Given the description of an element on the screen output the (x, y) to click on. 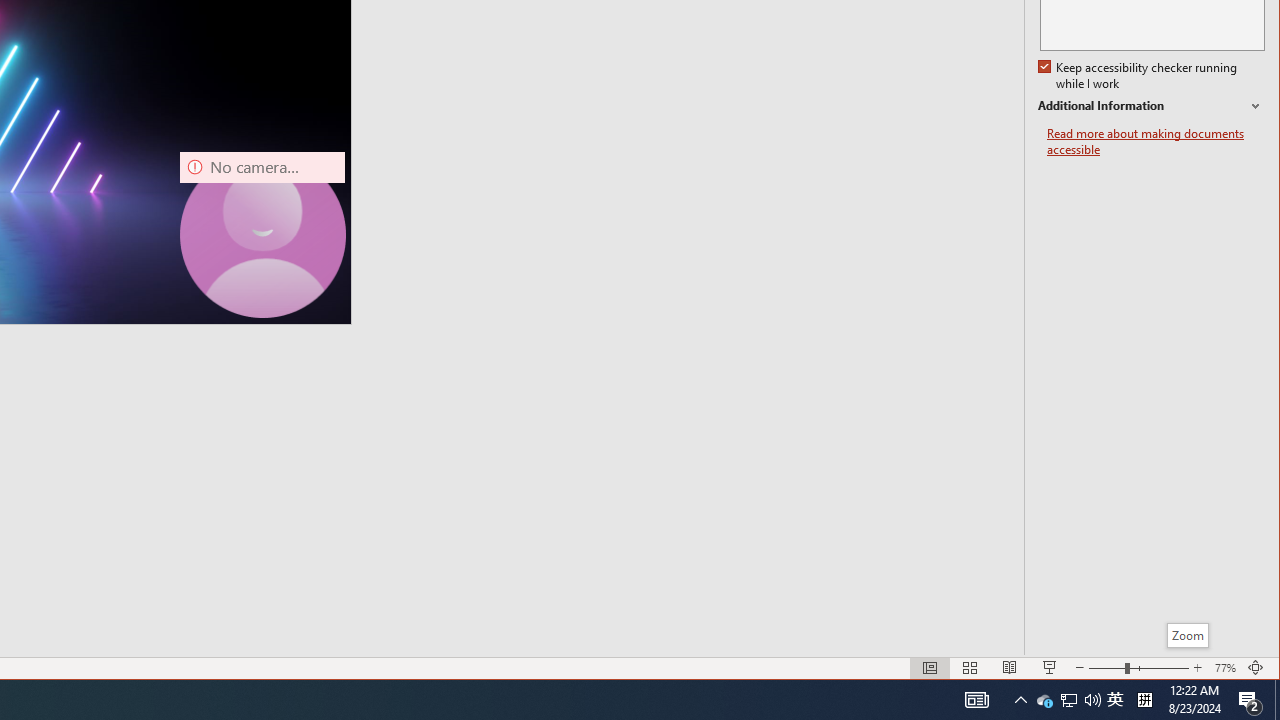
Zoom 77% (1225, 668)
